Given the description of an element on the screen output the (x, y) to click on. 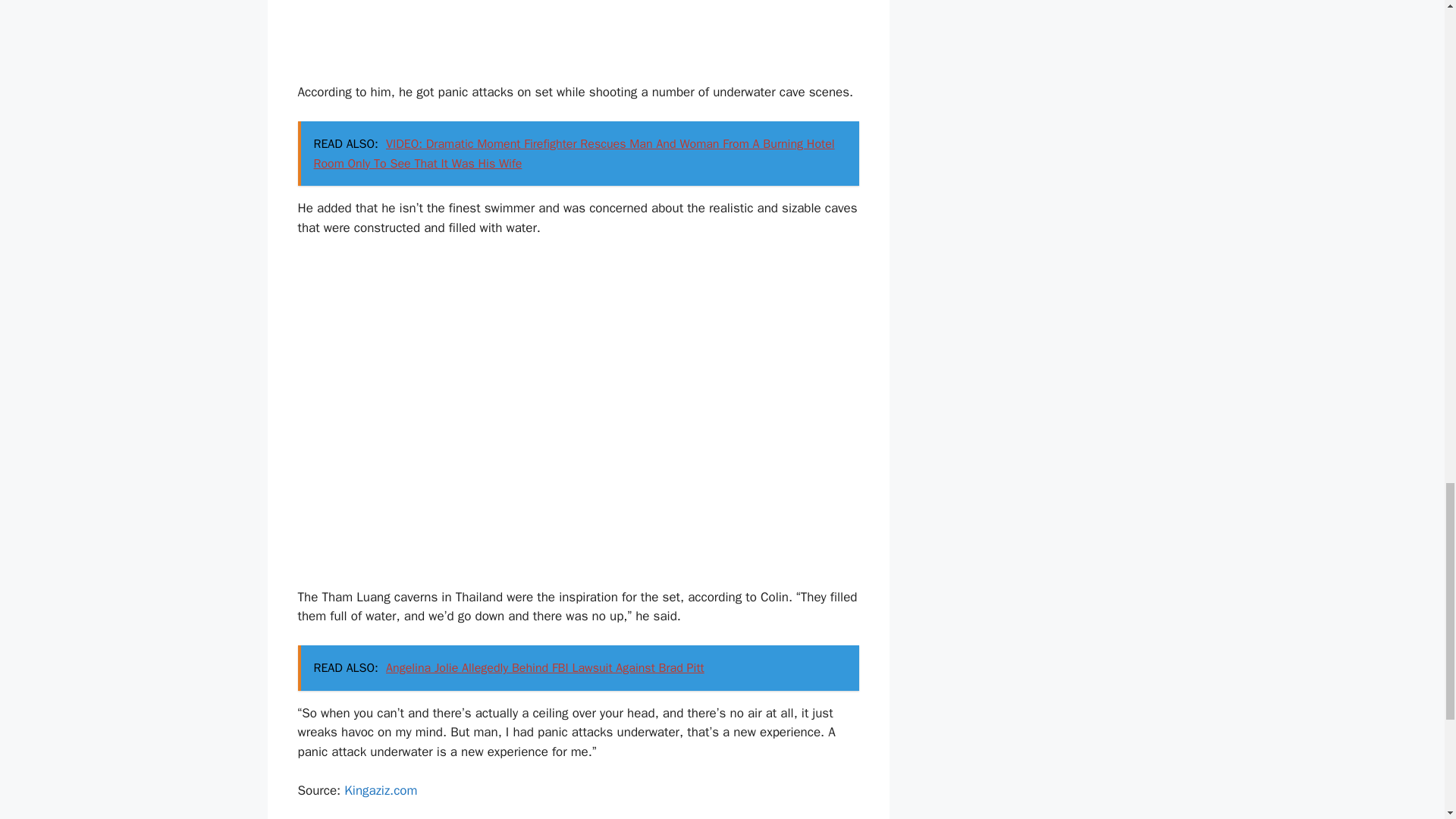
Kingaziz.com (379, 790)
